Given the description of an element on the screen output the (x, y) to click on. 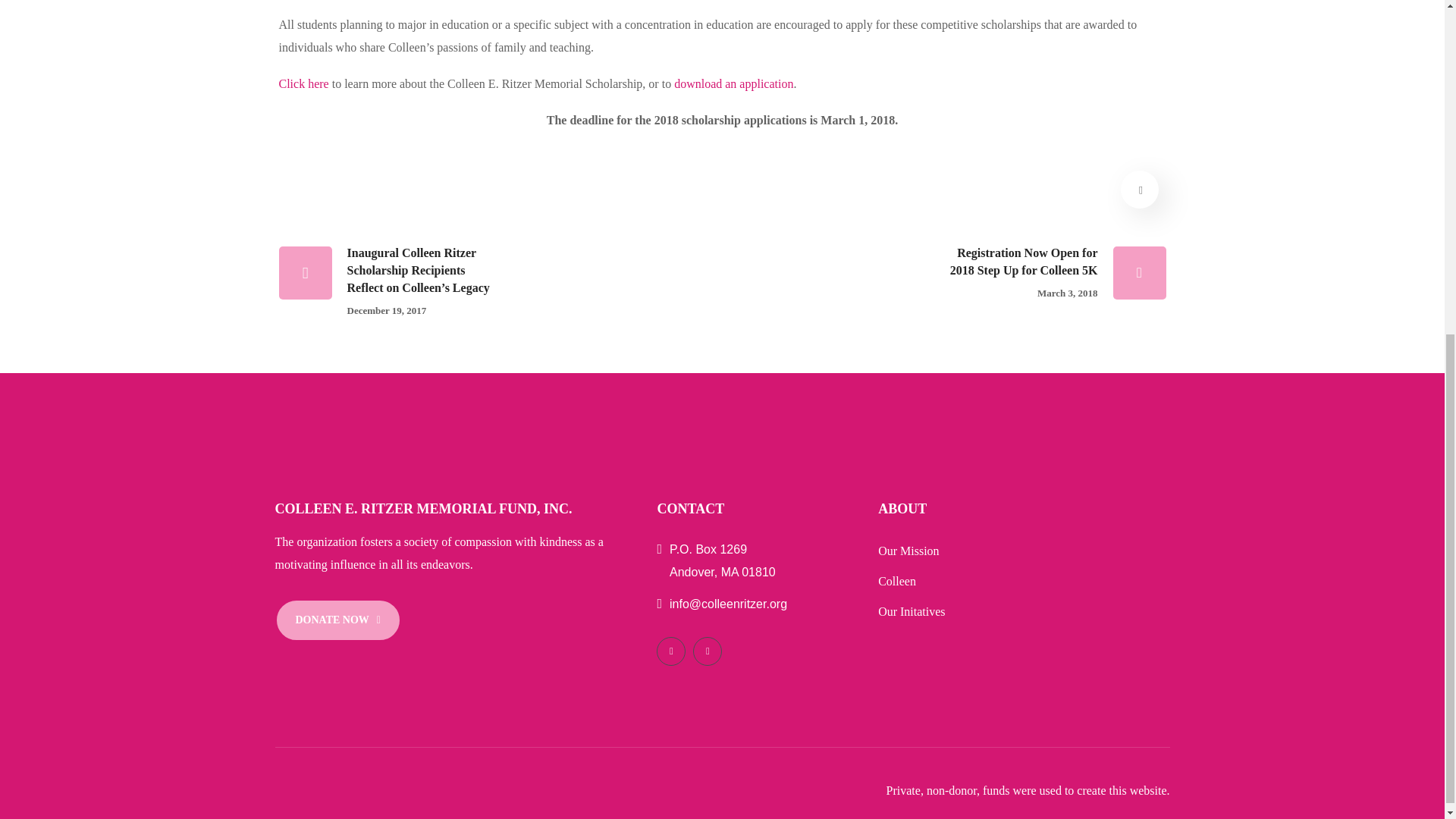
Twitter (670, 651)
Registration Now Open for 2018 Step Up for Colleen 5K (968, 274)
Facebook (707, 651)
